Given the description of an element on the screen output the (x, y) to click on. 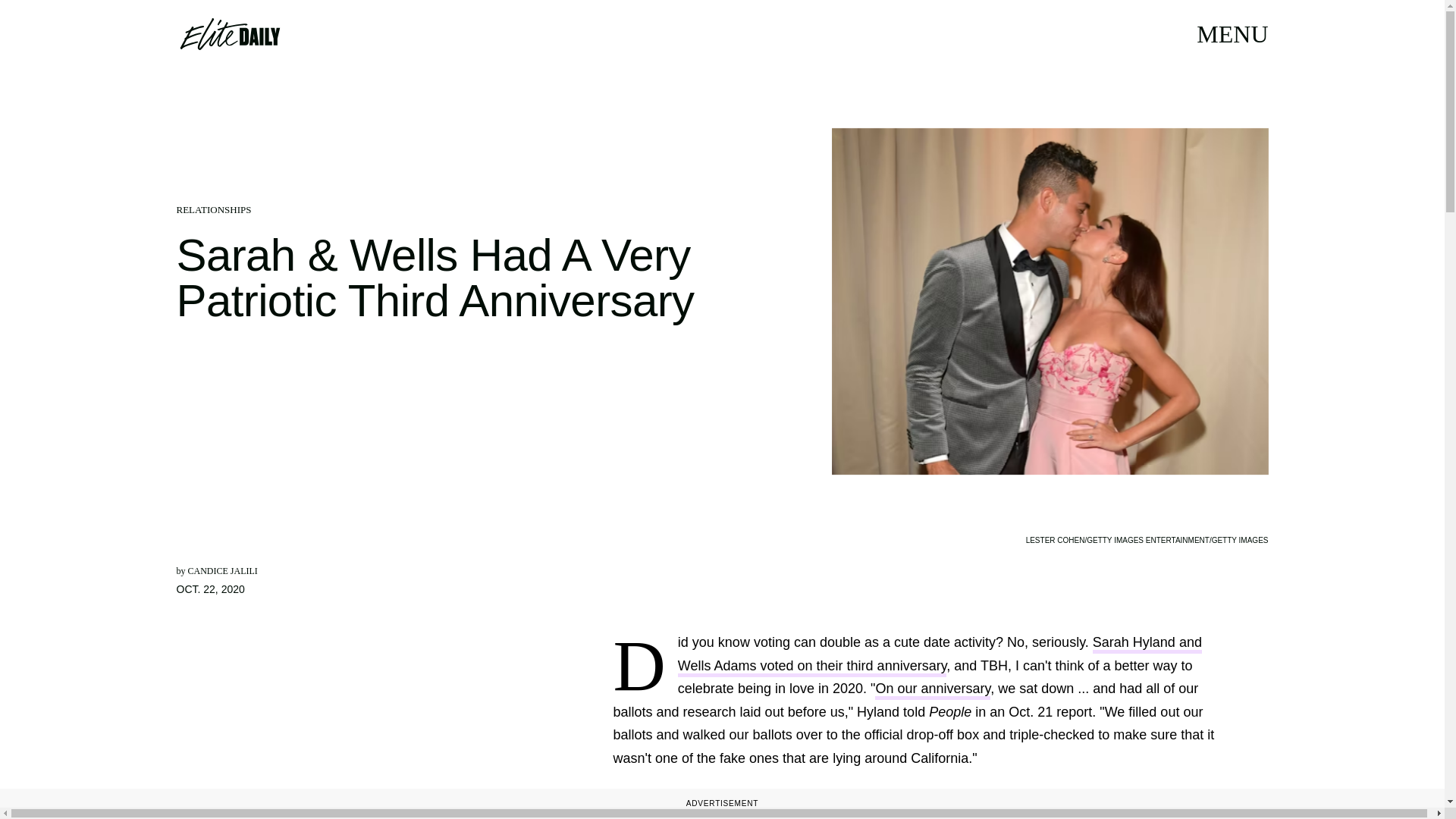
Elite Daily (229, 33)
On our anniversary (932, 690)
